Given the description of an element on the screen output the (x, y) to click on. 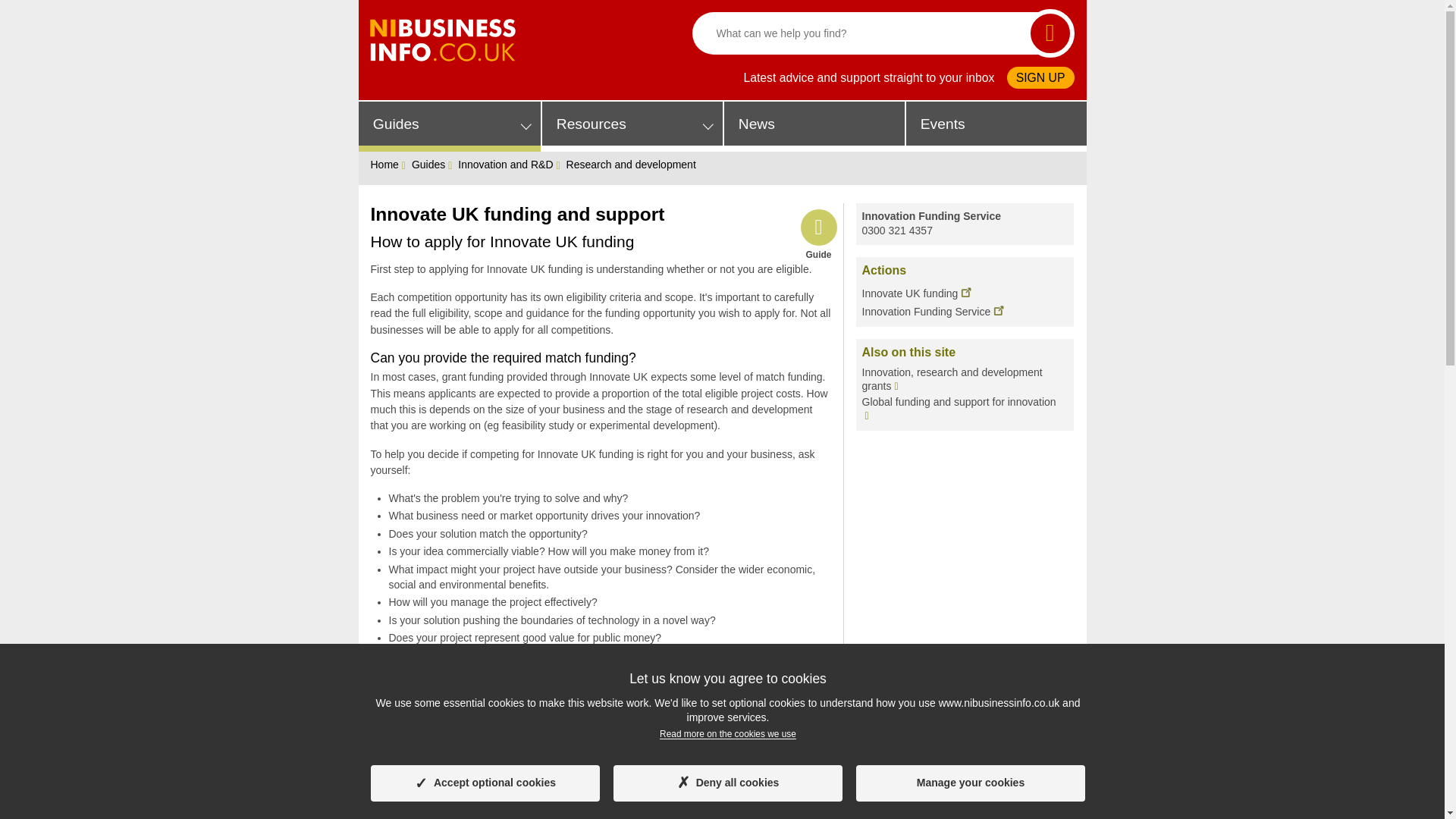
Search (1049, 33)
Explanation of Innovate UK application process (719, 801)
